Given the description of an element on the screen output the (x, y) to click on. 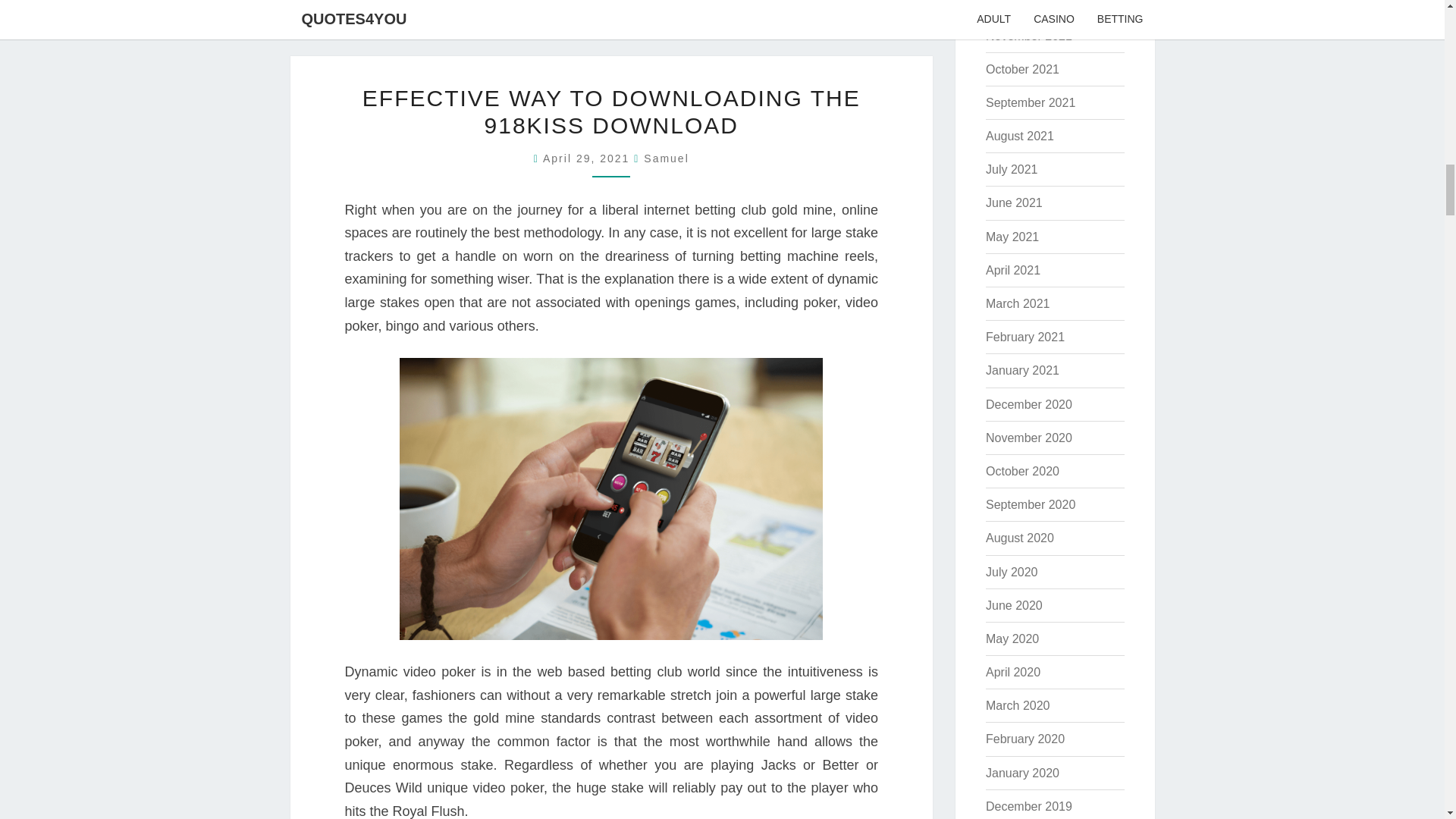
April 29, 2021 (588, 158)
EFFECTIVE WAY TO DOWNLOADING THE 918KISS DOWNLOAD (611, 111)
8:48 am (588, 158)
Samuel (665, 158)
View all posts by Samuel (665, 158)
